Given the description of an element on the screen output the (x, y) to click on. 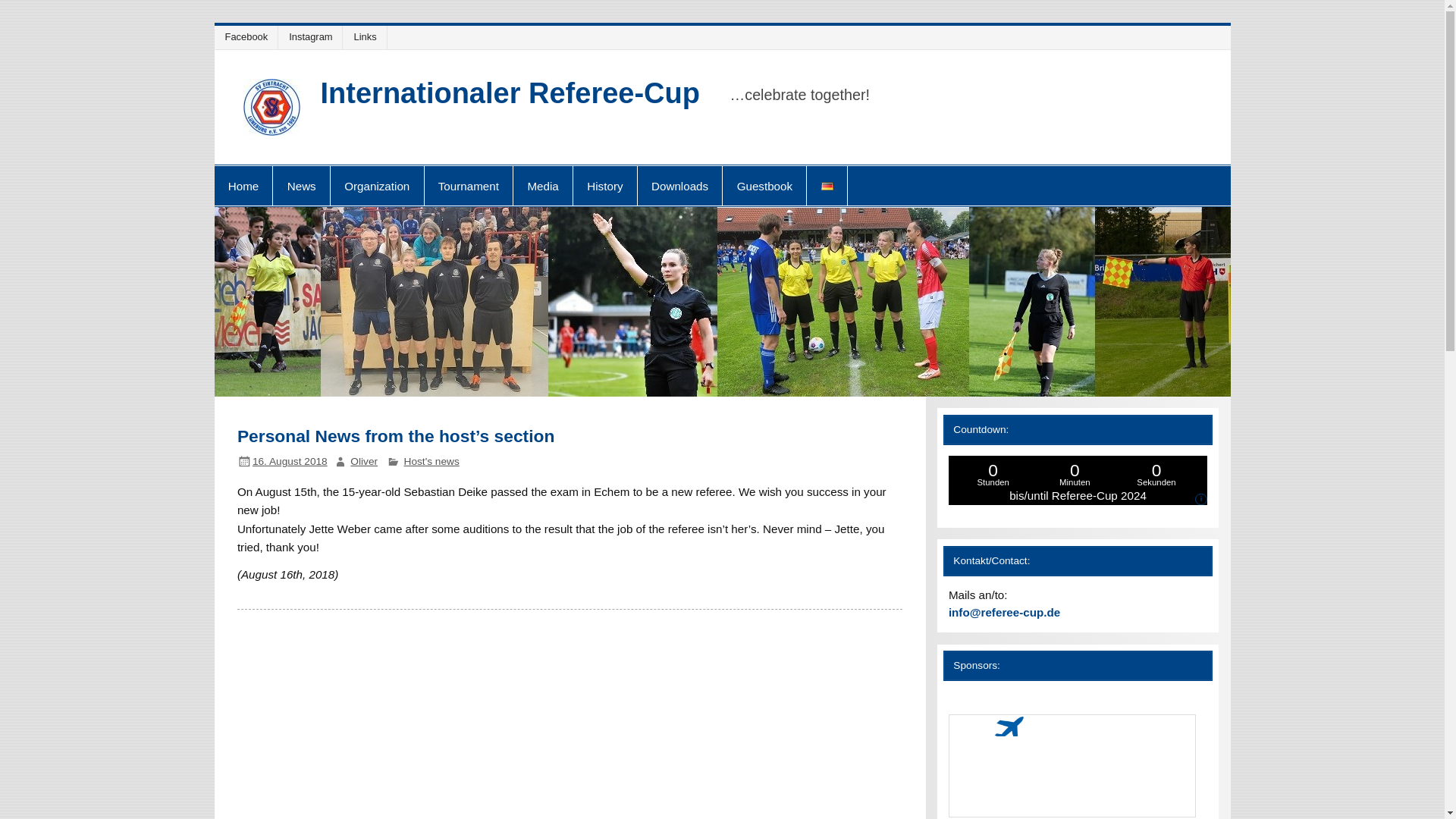
News (301, 185)
12:13 (289, 460)
Home (243, 185)
Instagram (312, 37)
Internationaler Referee-Cup (510, 92)
View all posts by Oliver (363, 460)
Tournament (469, 185)
Media (542, 185)
Organization (376, 185)
History (605, 185)
